Given the description of an element on the screen output the (x, y) to click on. 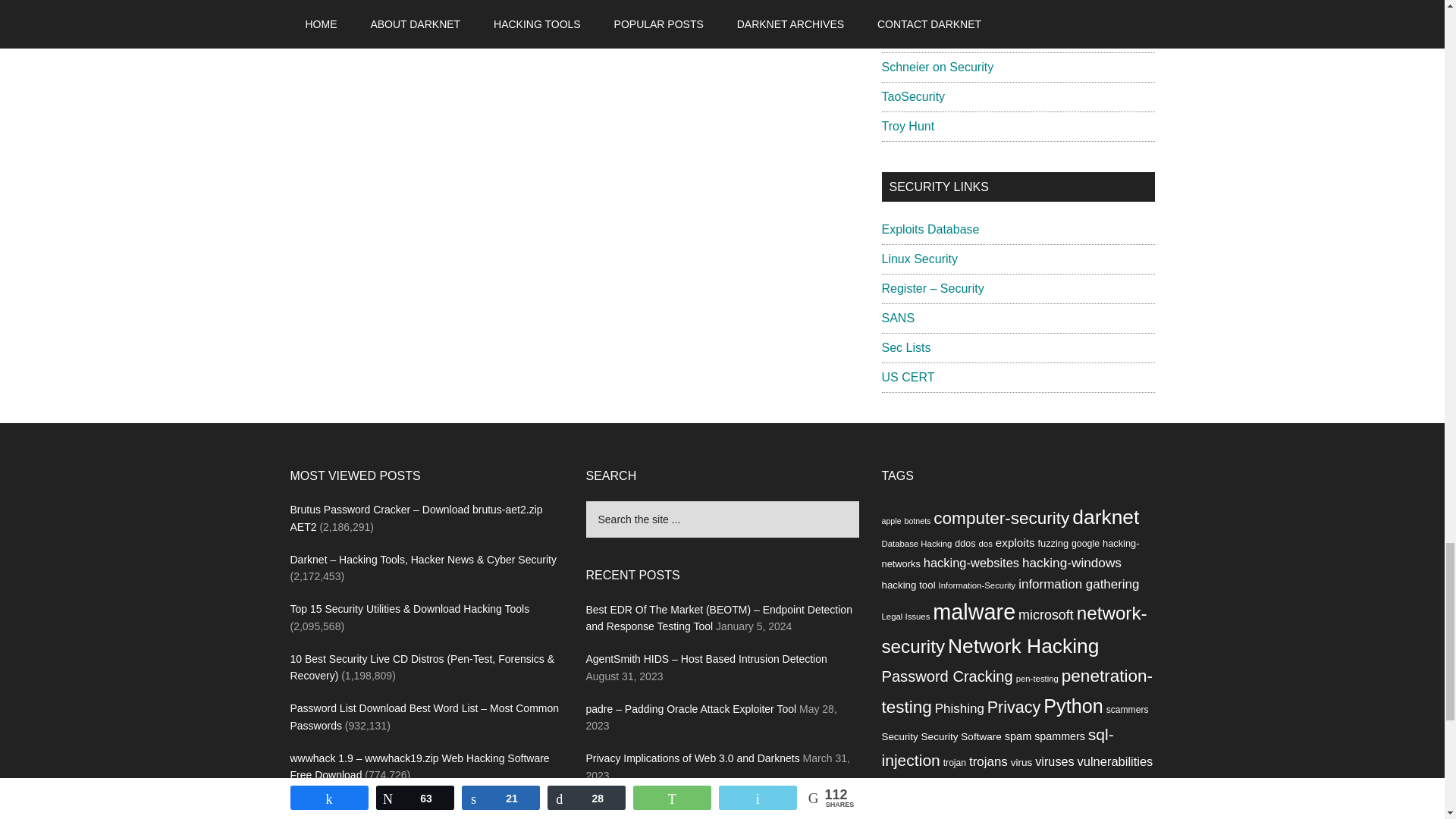
A weblog covering security and security technology. (936, 66)
SANS Internet Storm Center (938, 7)
Krebs on Security (928, 37)
